Given the description of an element on the screen output the (x, y) to click on. 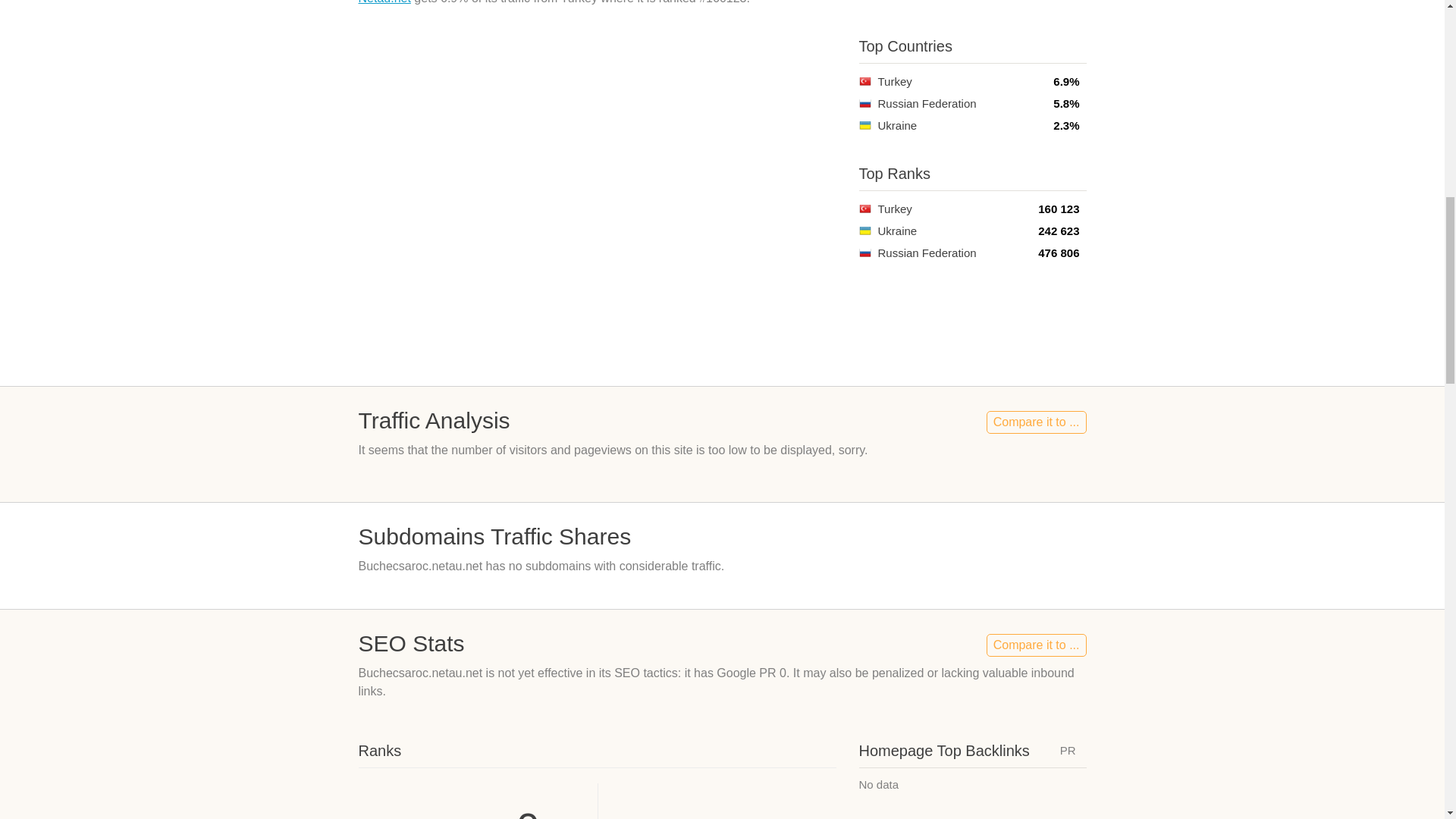
Compare it to ... (1036, 422)
Compare it to ... (1036, 644)
Ukraine (864, 230)
Russian Federation (864, 252)
Turkey (864, 80)
Ukraine (864, 125)
Turkey (864, 208)
Russian Federation (864, 103)
Netau.net (384, 2)
